Given the description of an element on the screen output the (x, y) to click on. 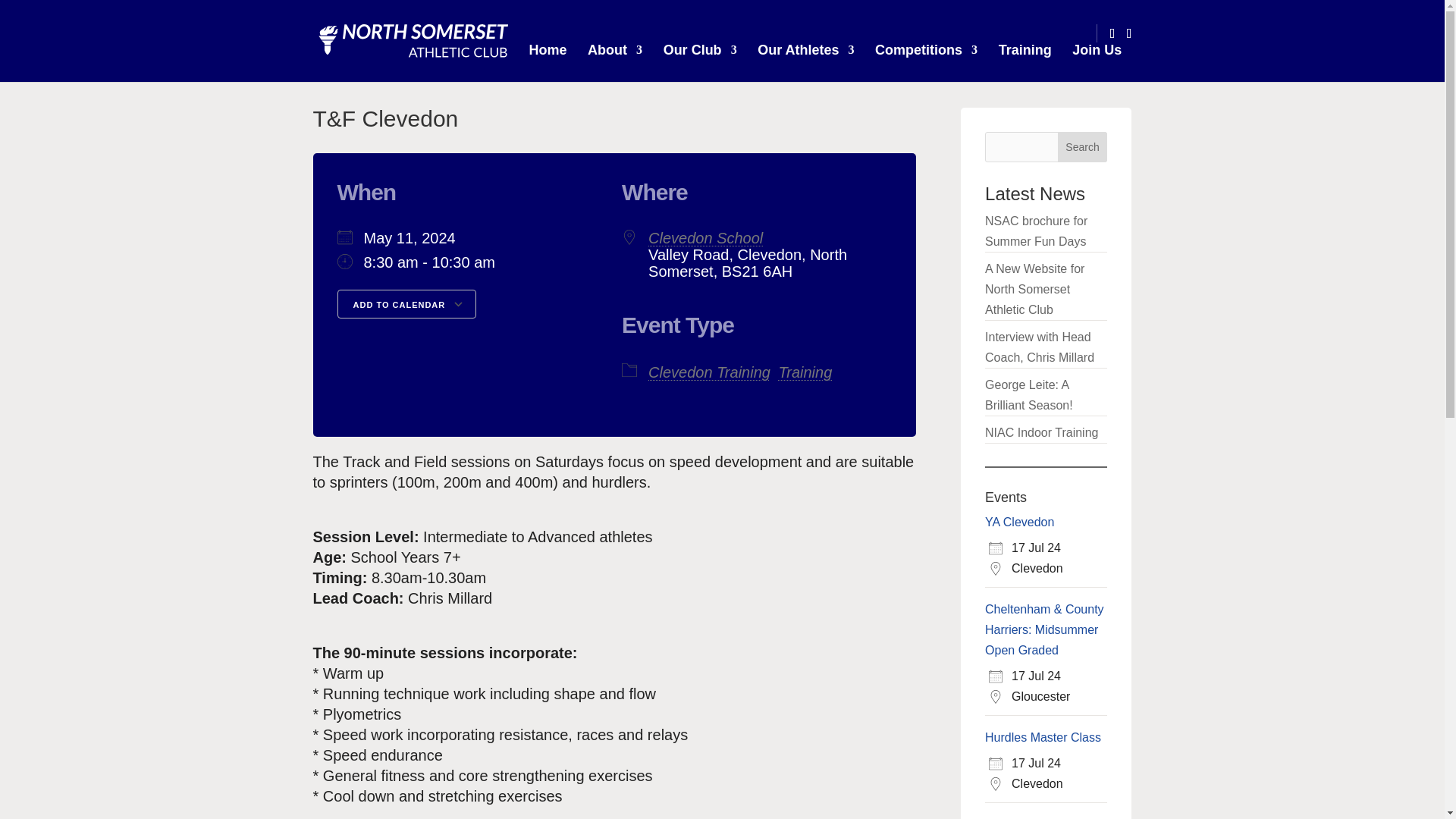
About (615, 50)
Home (548, 50)
Join Us (1096, 50)
Competitions (925, 50)
Our Club (699, 50)
Our Athletes (805, 50)
Training (1024, 50)
